Given the description of an element on the screen output the (x, y) to click on. 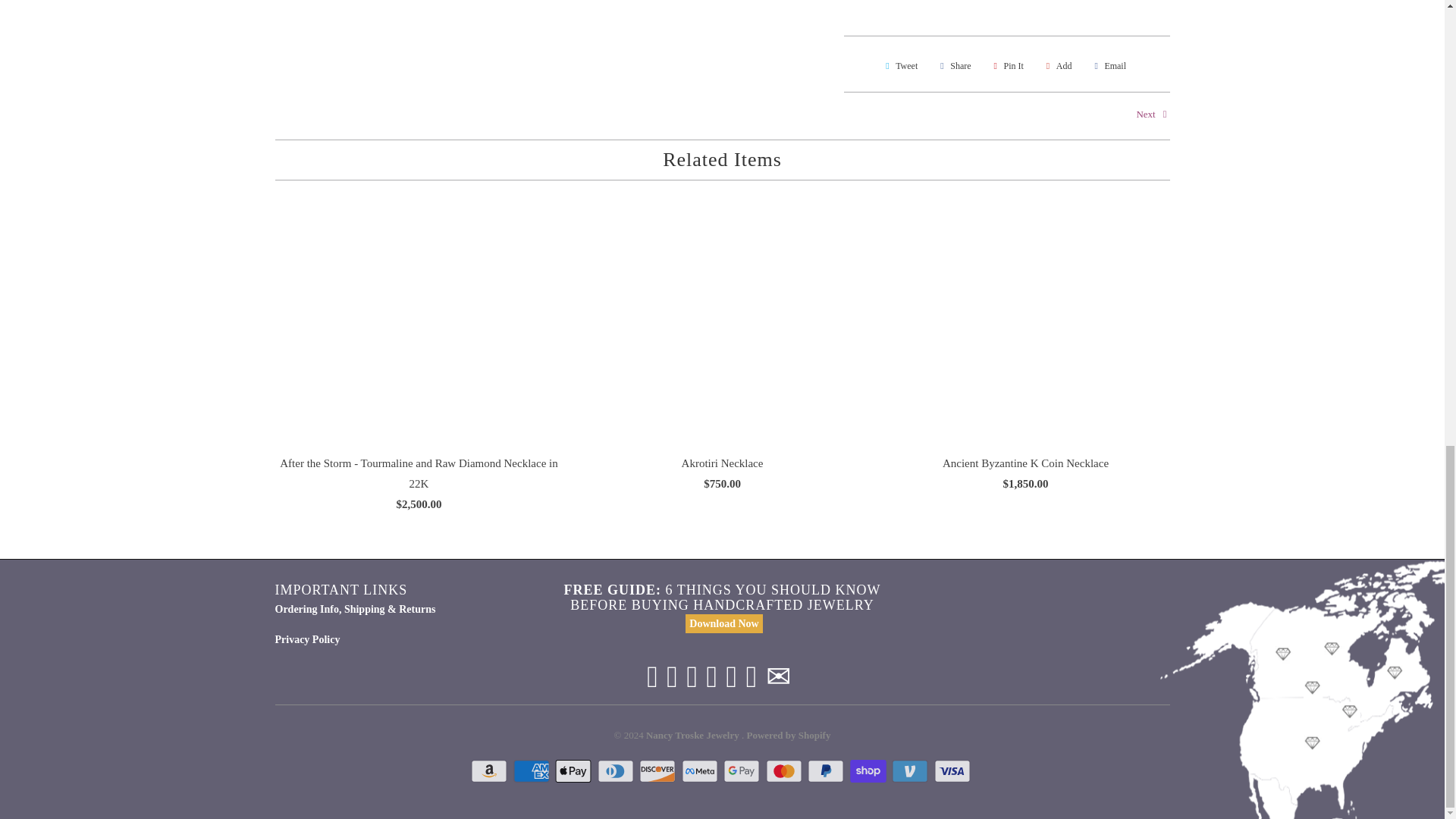
Share this on Facebook (953, 65)
Email this to a friend (1107, 65)
Privacy Policy (307, 639)
Share this on Pinterest (1005, 65)
Share this on Twitter (898, 65)
